Given the description of an element on the screen output the (x, y) to click on. 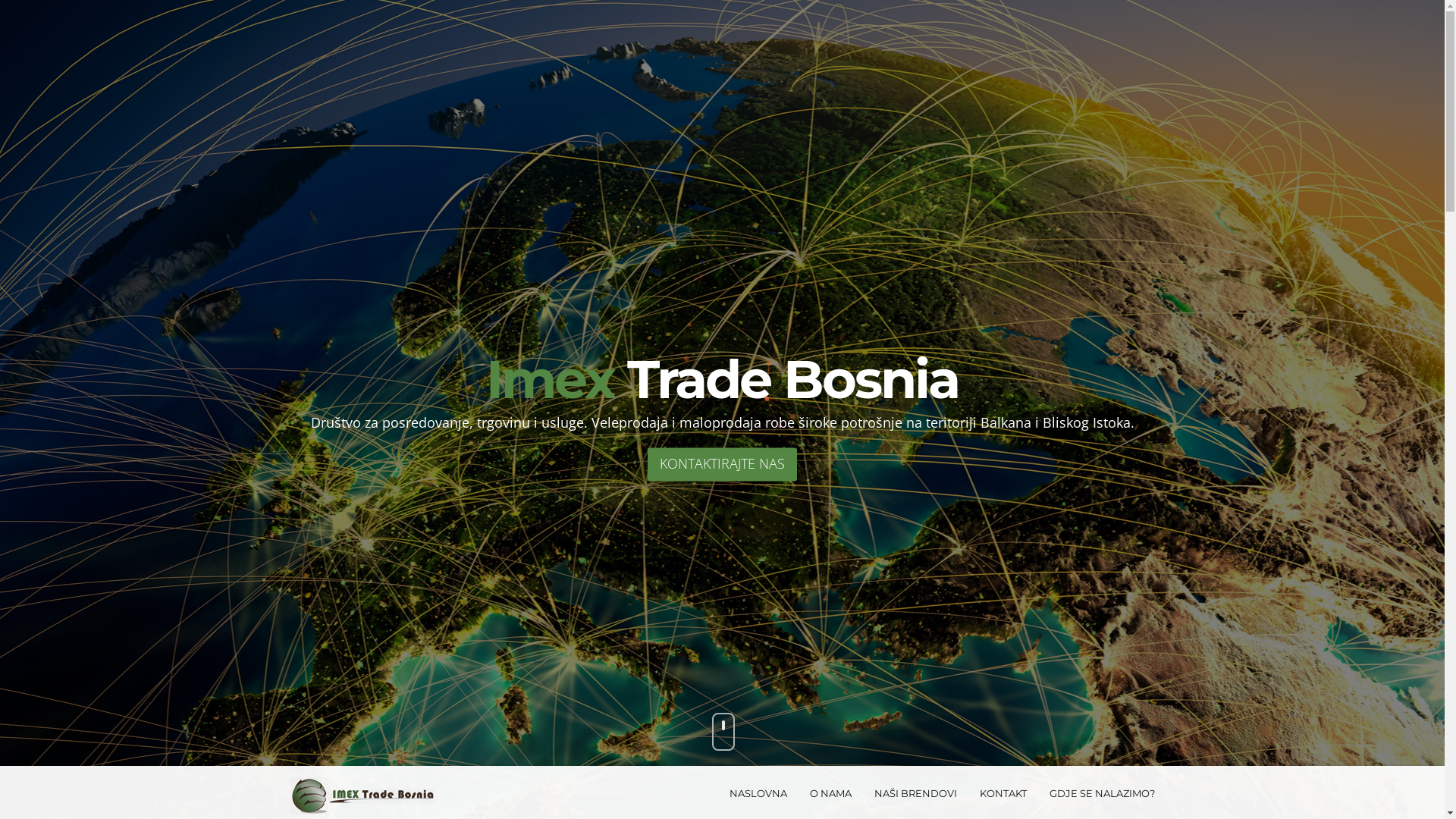
O NAMA Element type: text (829, 793)
GDJE SE NALAZIMO? Element type: text (1101, 793)
NASLOVNA Element type: text (757, 793)
KONTAKT Element type: text (1002, 793)
KONTAKTIRAJTE NAS Element type: text (722, 464)
